Given the description of an element on the screen output the (x, y) to click on. 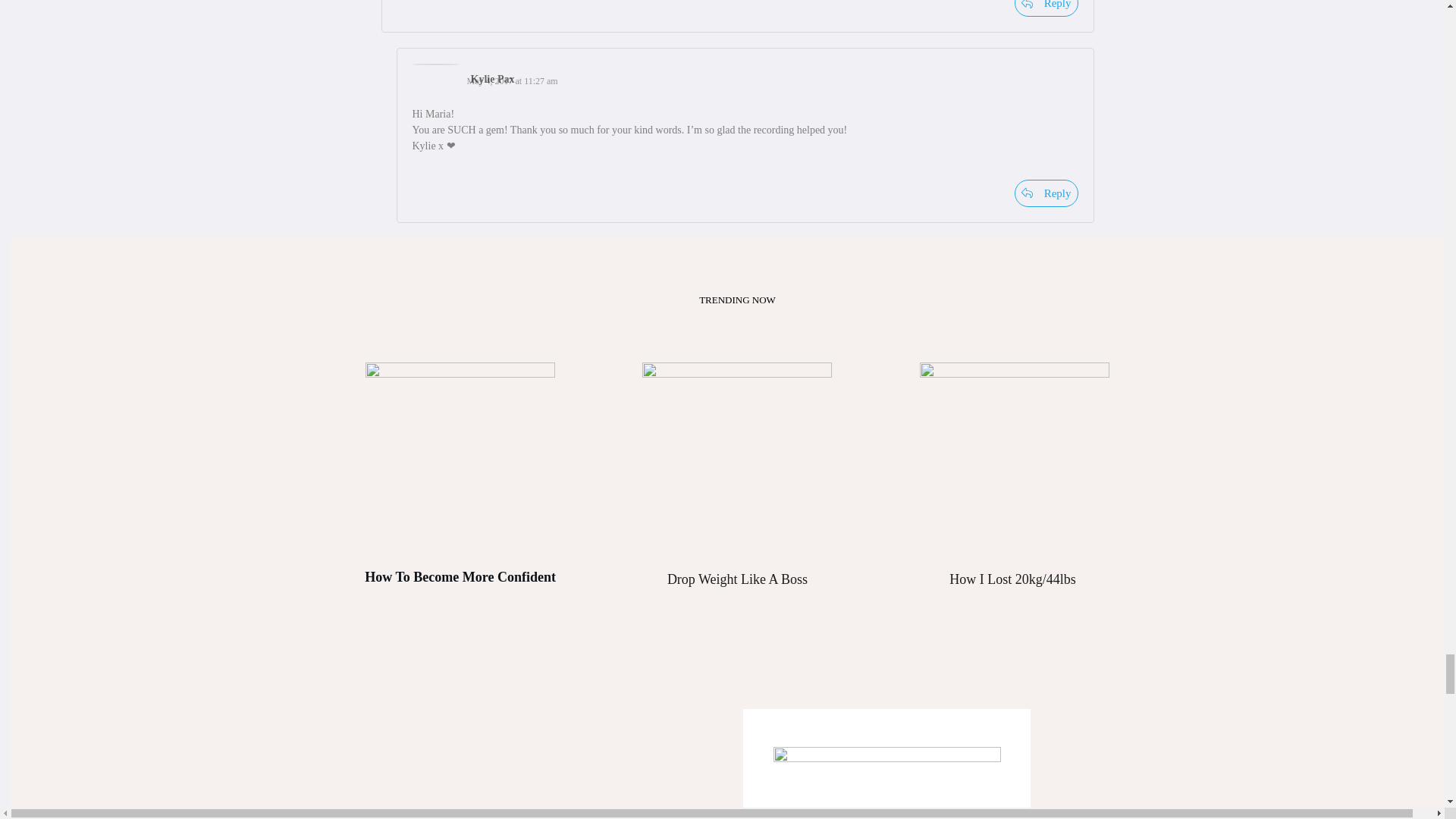
fts (736, 457)
free course square (1014, 457)
PODCAST COVER ART - LOSING IT WITH KYLIE PAX (887, 782)
Screenshot 2023-10-23 at 6.10.41 pm copy 3 (459, 457)
